Given the description of an element on the screen output the (x, y) to click on. 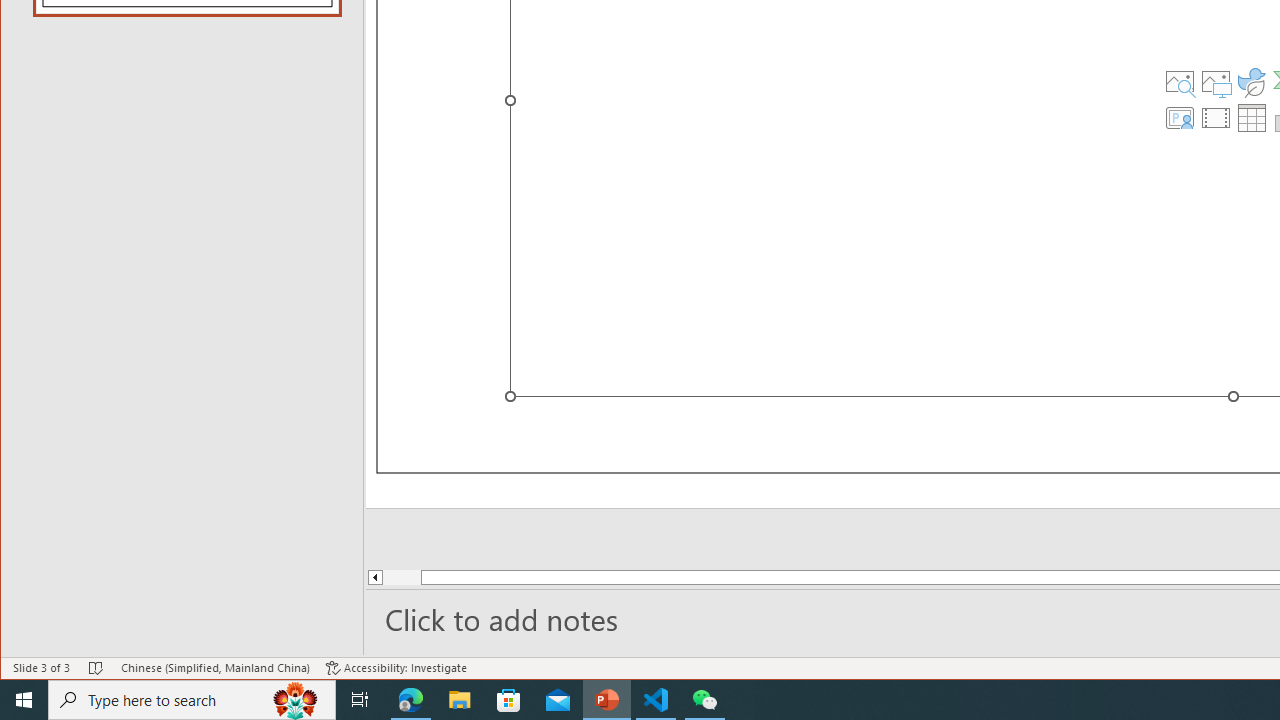
Insert Table (1252, 117)
